Given the description of an element on the screen output the (x, y) to click on. 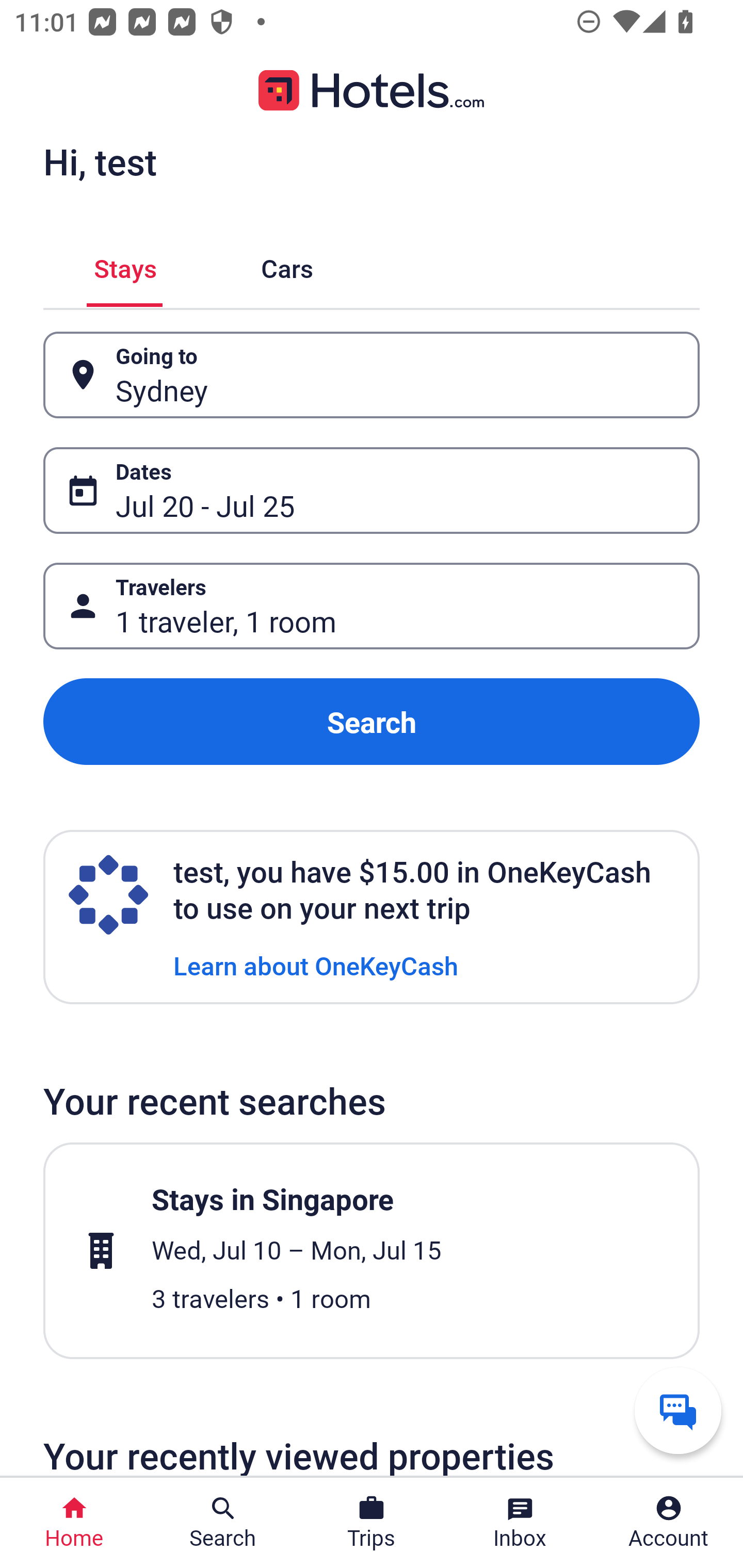
Hi, test (99, 161)
Cars (286, 265)
Going to Button Sydney (371, 375)
Dates Button Jul 20 - Jul 25 (371, 489)
Travelers Button 1 traveler, 1 room (371, 605)
Search (371, 721)
Learn about OneKeyCash Learn about OneKeyCash Link (315, 964)
Get help from a virtual agent (677, 1410)
Search Search Button (222, 1522)
Trips Trips Button (371, 1522)
Inbox Inbox Button (519, 1522)
Account Profile. Button (668, 1522)
